Given the description of an element on the screen output the (x, y) to click on. 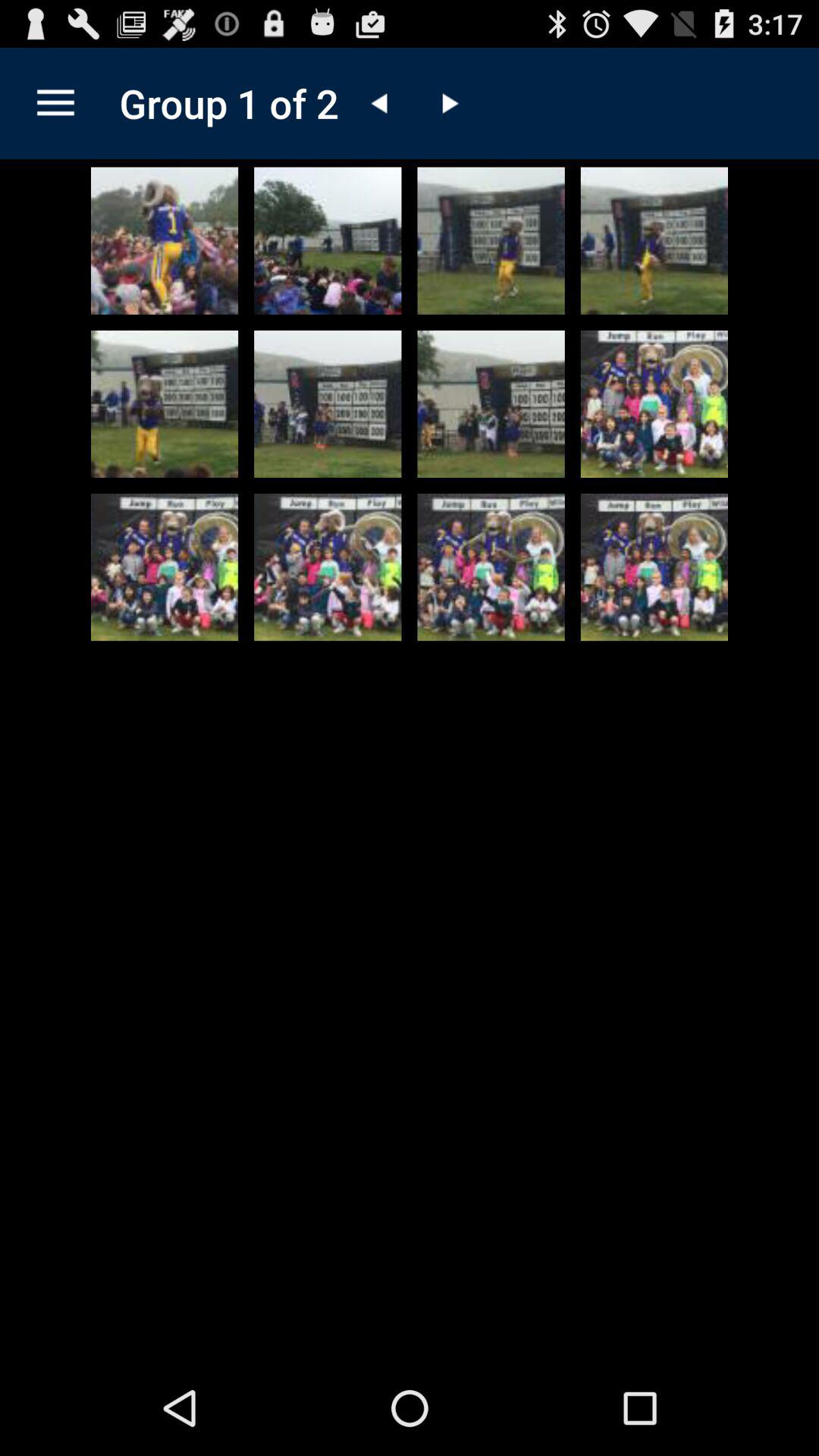
view photo (327, 403)
